Given the description of an element on the screen output the (x, y) to click on. 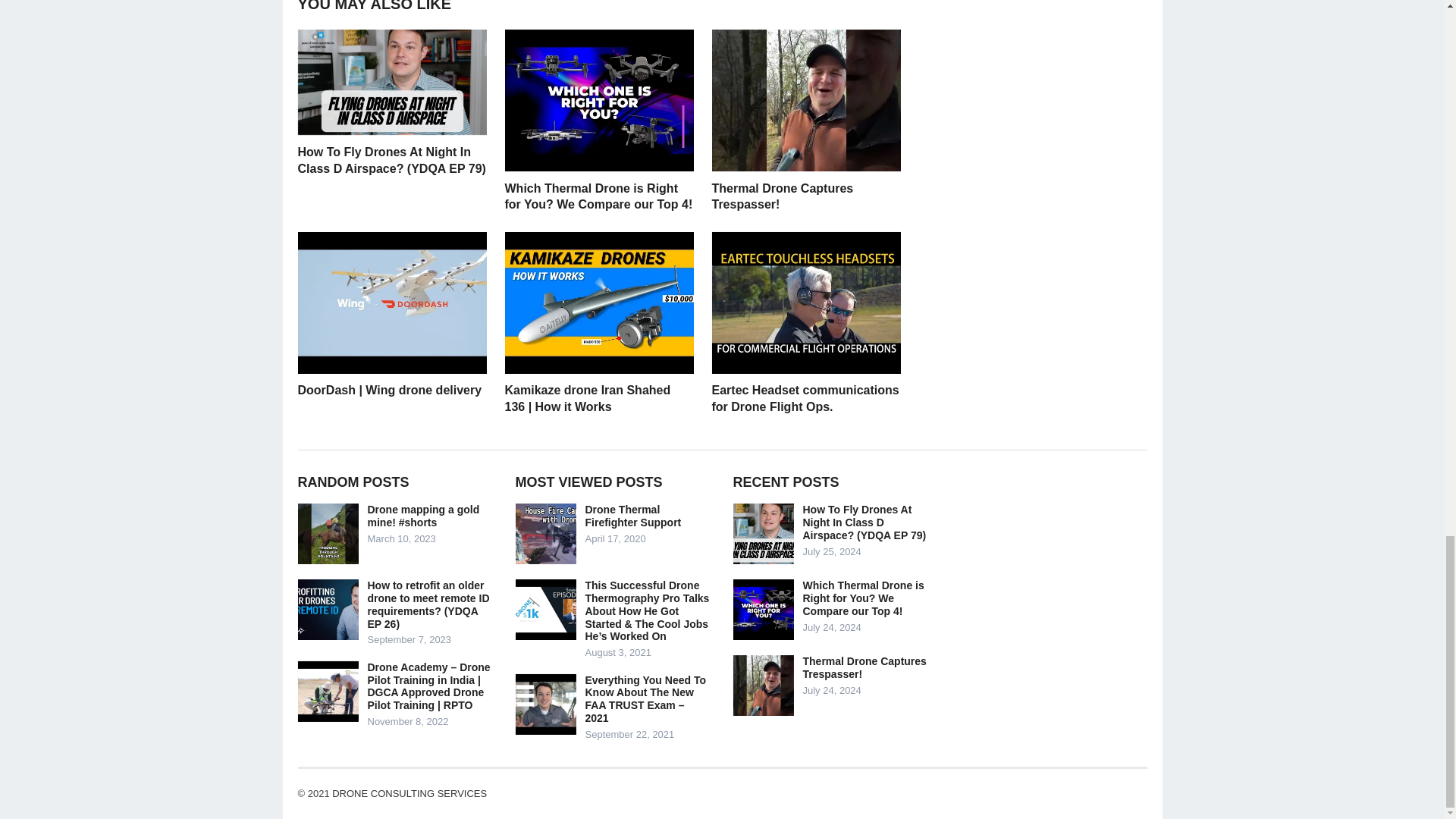
Eartec Headset communications for Drone Flight Ops. 12 (805, 302)
Thermal Drone Captures Trespasser! 6 (805, 100)
Which Thermal Drone is Right for You? We Compare our Top 4! (599, 196)
Thermal Drone Captures Trespasser! (782, 196)
